Given the description of an element on the screen output the (x, y) to click on. 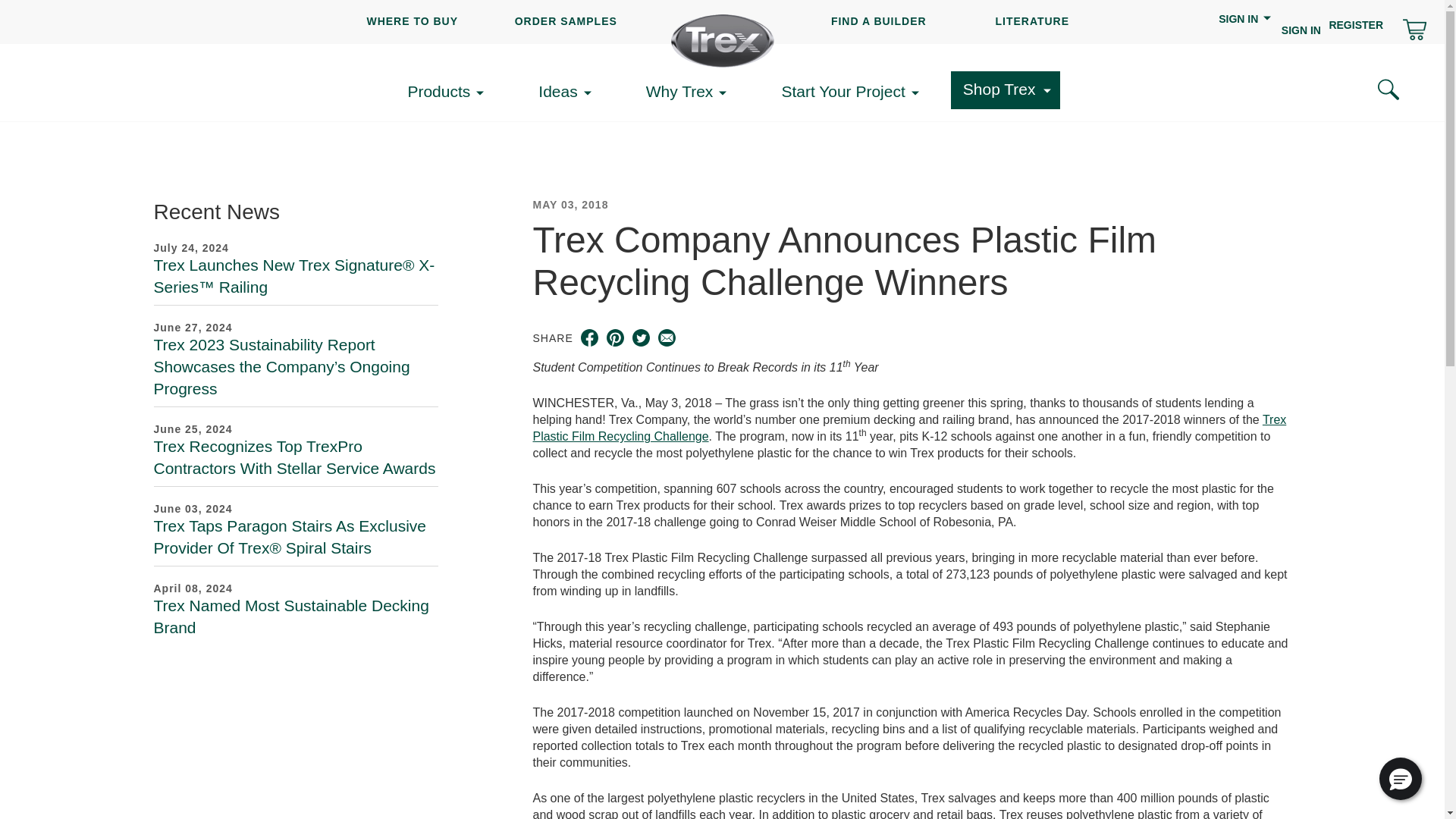
LITERATURE (1031, 21)
WHERE TO BUY (412, 21)
SIGN IN (1245, 28)
REGISTER (1355, 24)
SIGN IN (1300, 30)
ORDER SAMPLES (566, 21)
Products (450, 92)
FIND A BUILDER (878, 21)
